Given the description of an element on the screen output the (x, y) to click on. 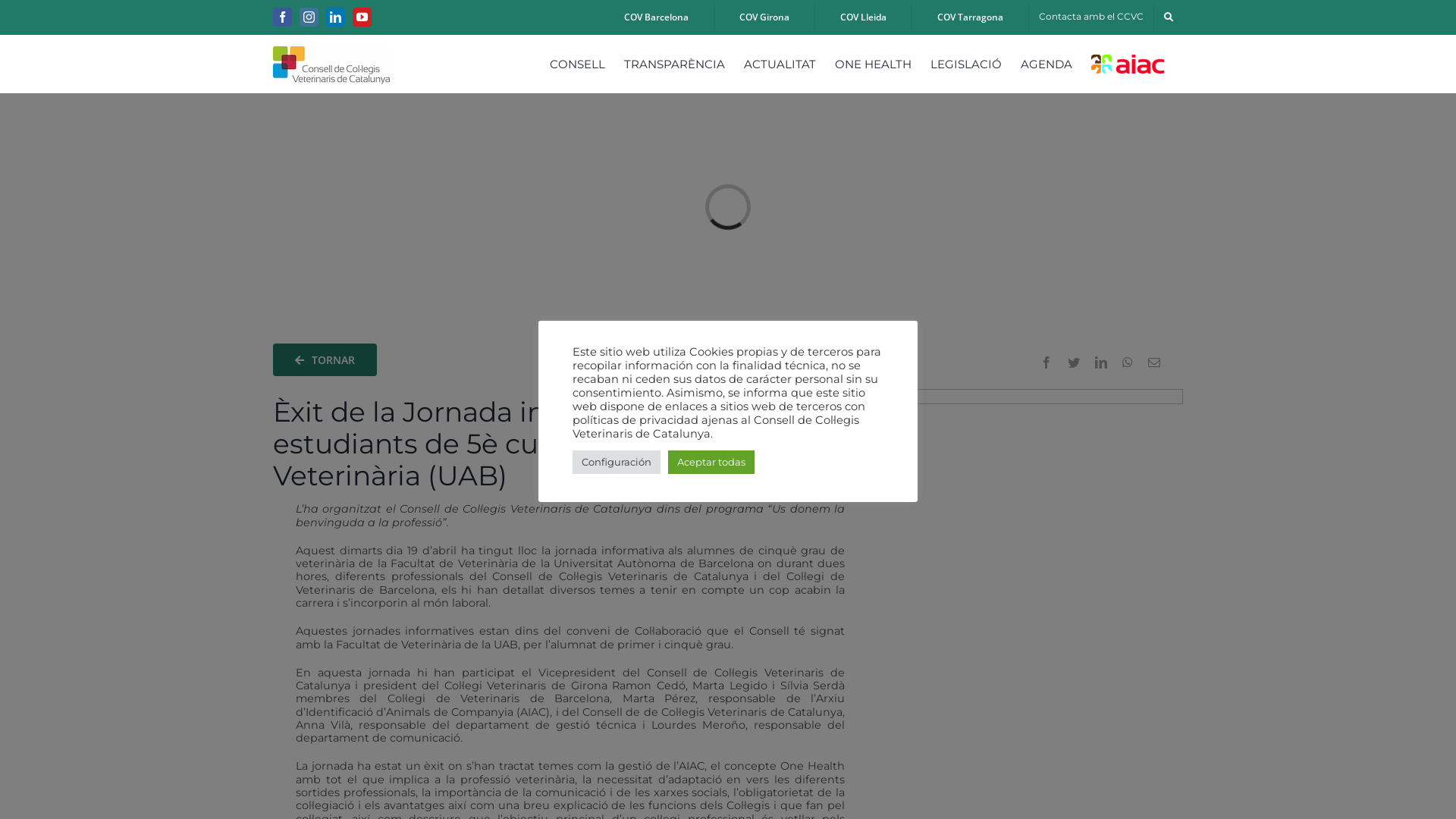
COV Girona Element type: text (764, 17)
COV Barcelona Element type: text (656, 17)
Contacta amb el CCVC Element type: text (1091, 17)
COV Lleida Element type: text (863, 17)
ACTUALITAT Element type: text (779, 63)
WhatsApp Element type: hover (1127, 362)
ONE HEALTH Element type: text (872, 63)
AGENDA Element type: text (1046, 63)
LinkedIn Element type: hover (1100, 362)
Twitter Element type: hover (1073, 362)
LinkedIn Element type: text (335, 16)
Cerca Element type: hover (1168, 17)
Facebook Element type: hover (1046, 362)
Aceptar todas Element type: text (711, 461)
TORNAR Element type: text (324, 359)
20220419_143200 Element type: hover (1043, 493)
Email: Element type: hover (1153, 362)
Facebook Element type: text (282, 16)
YouTube Element type: text (361, 16)
Instagram Element type: text (308, 16)
COV Tarragona Element type: text (970, 17)
CONSELL Element type: text (577, 63)
